Given the description of an element on the screen output the (x, y) to click on. 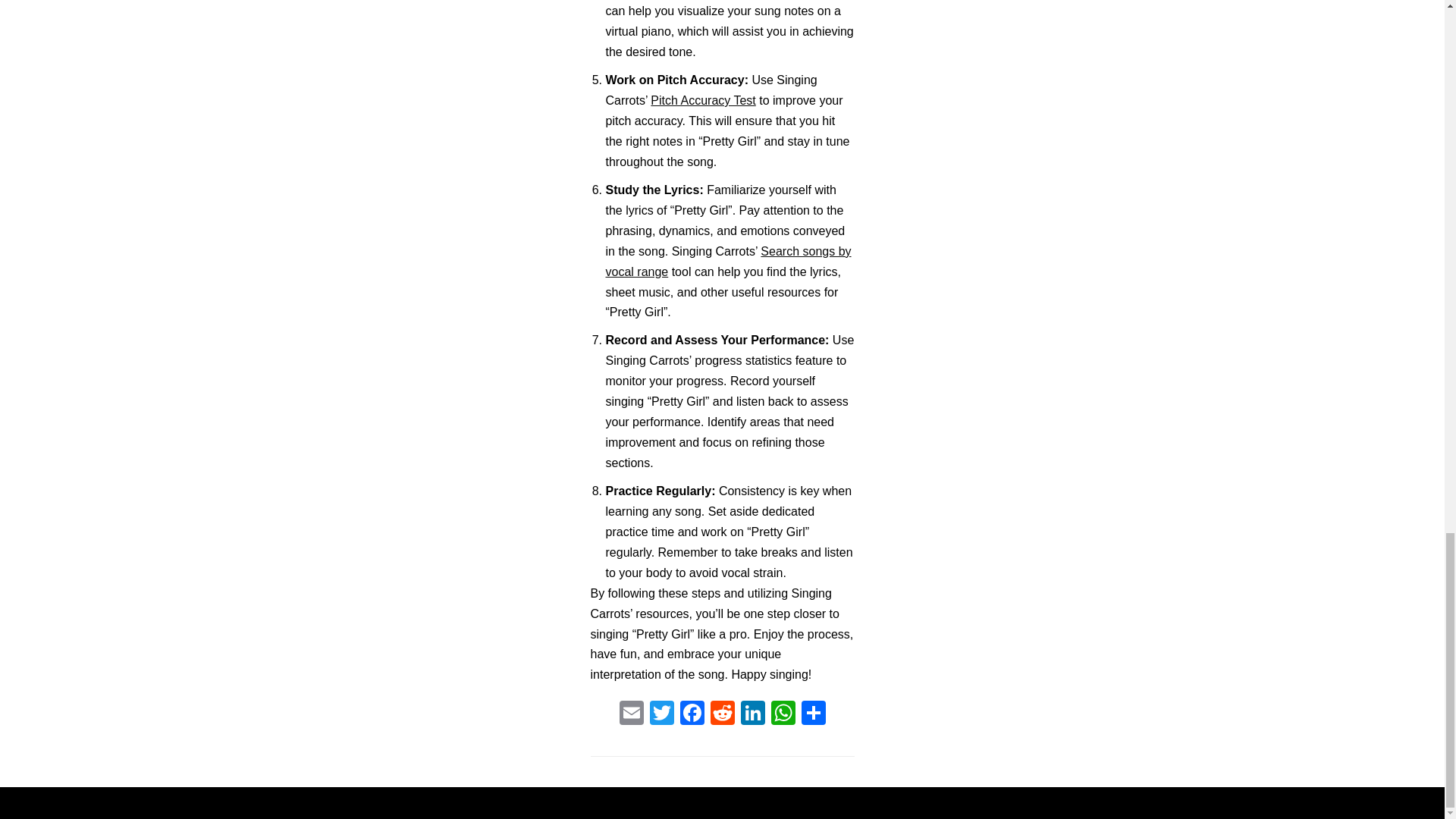
Facebook (691, 714)
WordPress (775, 802)
Email (630, 714)
Neve (652, 802)
Reddit (721, 714)
LinkedIn (751, 714)
Reddit (721, 714)
Twitter (661, 714)
LinkedIn (751, 714)
WhatsApp (782, 714)
